Given the description of an element on the screen output the (x, y) to click on. 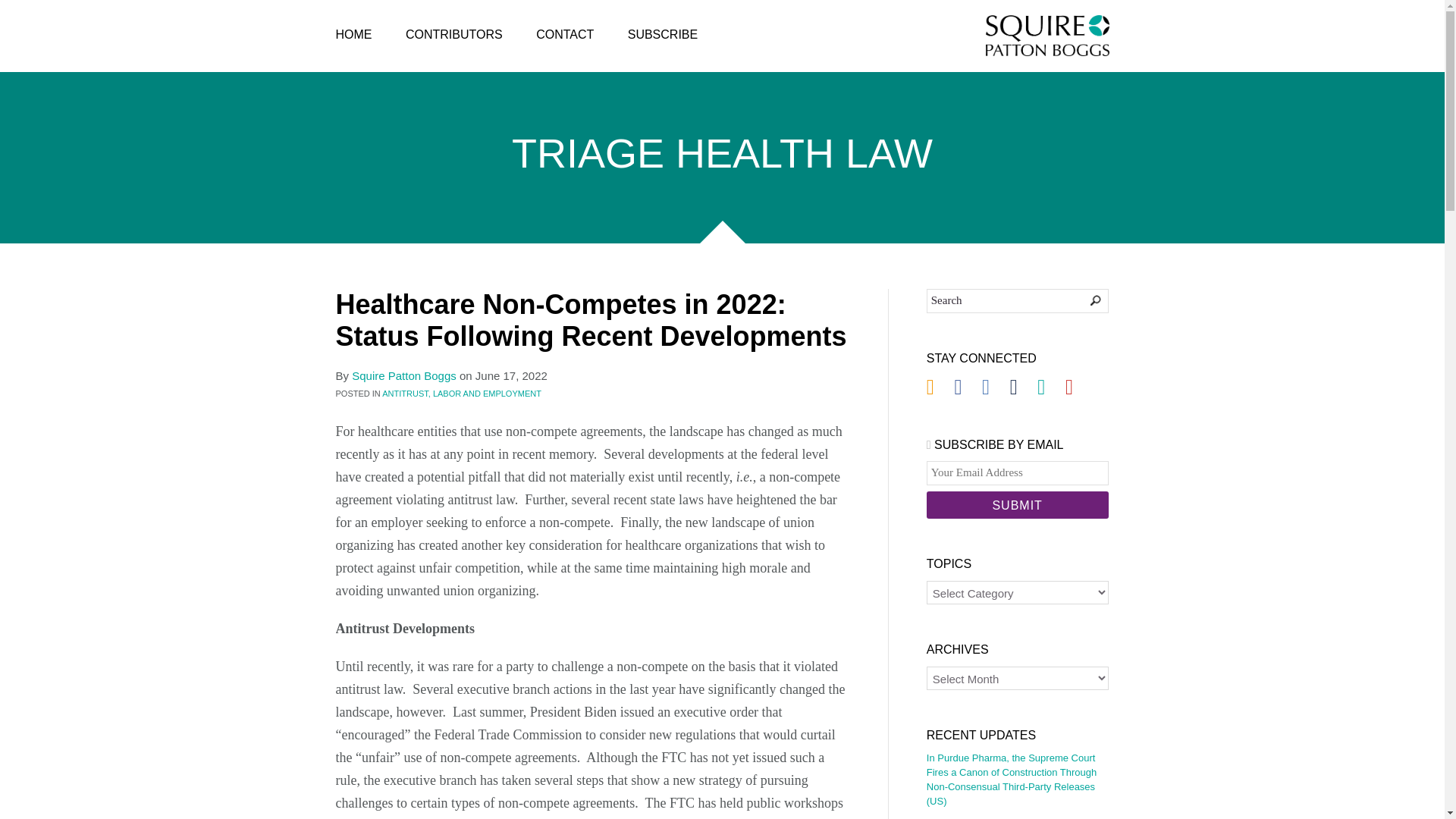
SUBSCRIBE (662, 34)
CONTACT (564, 34)
HOME (352, 34)
Squire Patton Boggs (404, 375)
TRIAGE HEALTH LAW (721, 157)
Go (1085, 300)
CONTRIBUTORS (454, 34)
Search (1017, 300)
ANTITRUST, (405, 393)
Go (1085, 300)
SUBMIT (1017, 504)
SUBMIT (1017, 504)
Squire Patton Boggs (1047, 35)
LABOR AND EMPLOYMENT (486, 393)
Go (1085, 300)
